Given the description of an element on the screen output the (x, y) to click on. 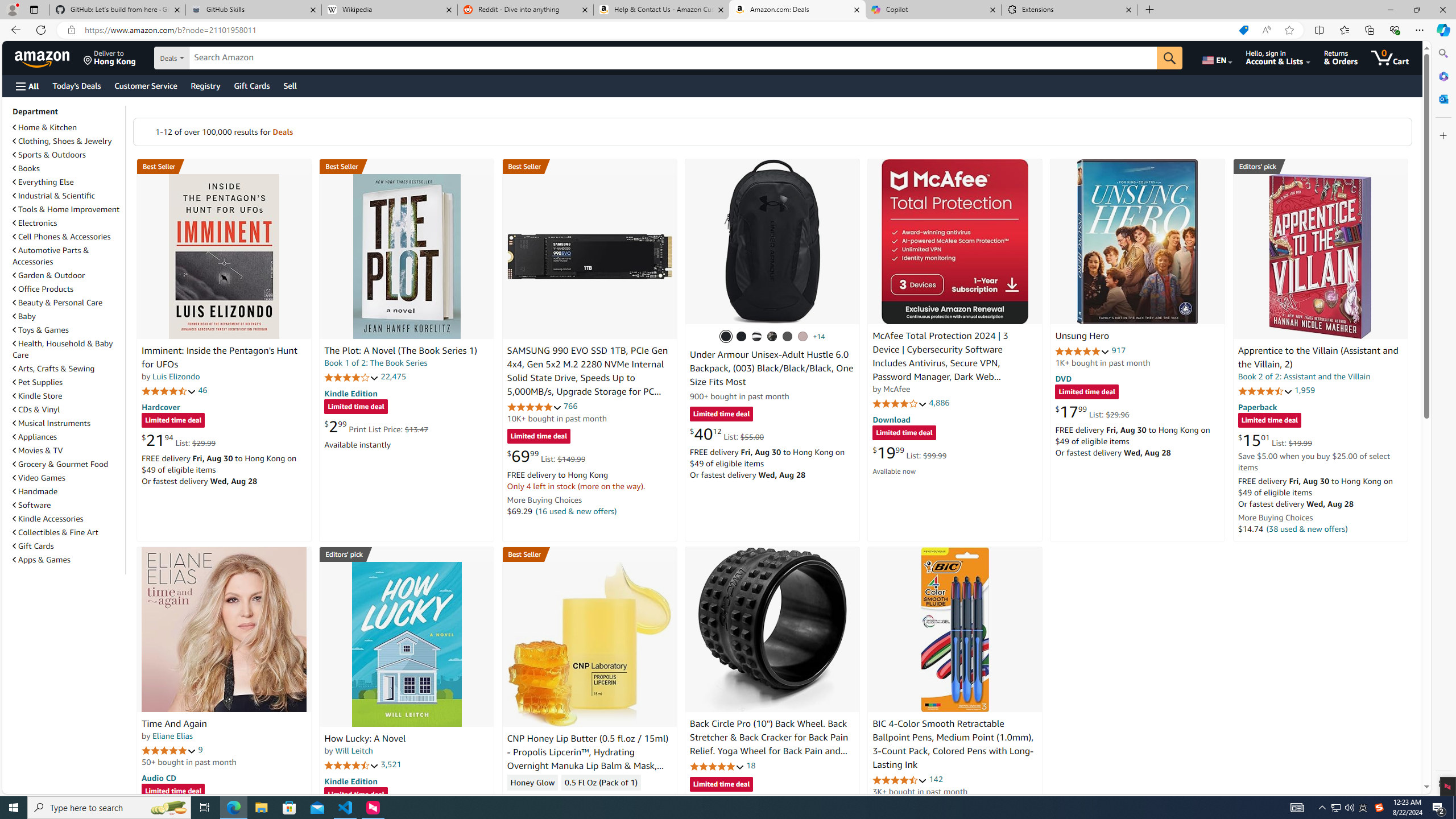
Today's Deals (76, 85)
4,886 (938, 402)
Audio CD (158, 777)
Apps & Games (67, 559)
9 (200, 749)
Gift Cards (33, 545)
The Plot: A Novel (The Book Series 1) (406, 256)
Best Seller in Internal Solid State Drives (589, 165)
Automotive Parts & Accessories (67, 255)
Baby (24, 316)
